Given the description of an element on the screen output the (x, y) to click on. 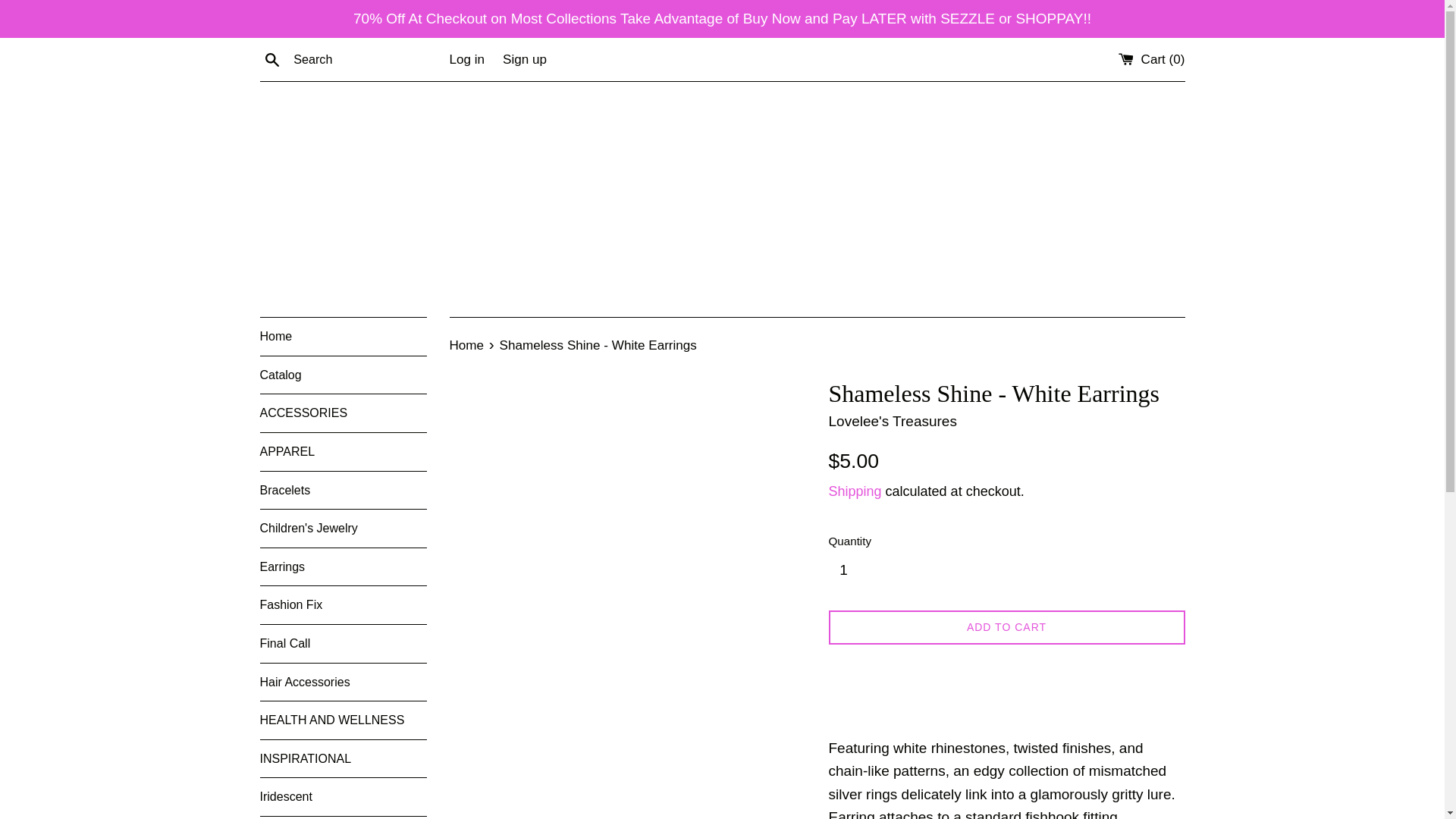
APPAREL (342, 451)
Bracelets (342, 490)
Catalog (342, 374)
Earrings (342, 566)
Children's Jewelry (342, 528)
ACCESSORIES (342, 412)
1 (848, 570)
Home (467, 345)
Home (342, 336)
Final Call (342, 643)
Log in (466, 59)
HEALTH AND WELLNESS (342, 720)
Iridescent (342, 796)
Back to the frontpage (467, 345)
Hair Accessories (342, 682)
